Given the description of an element on the screen output the (x, y) to click on. 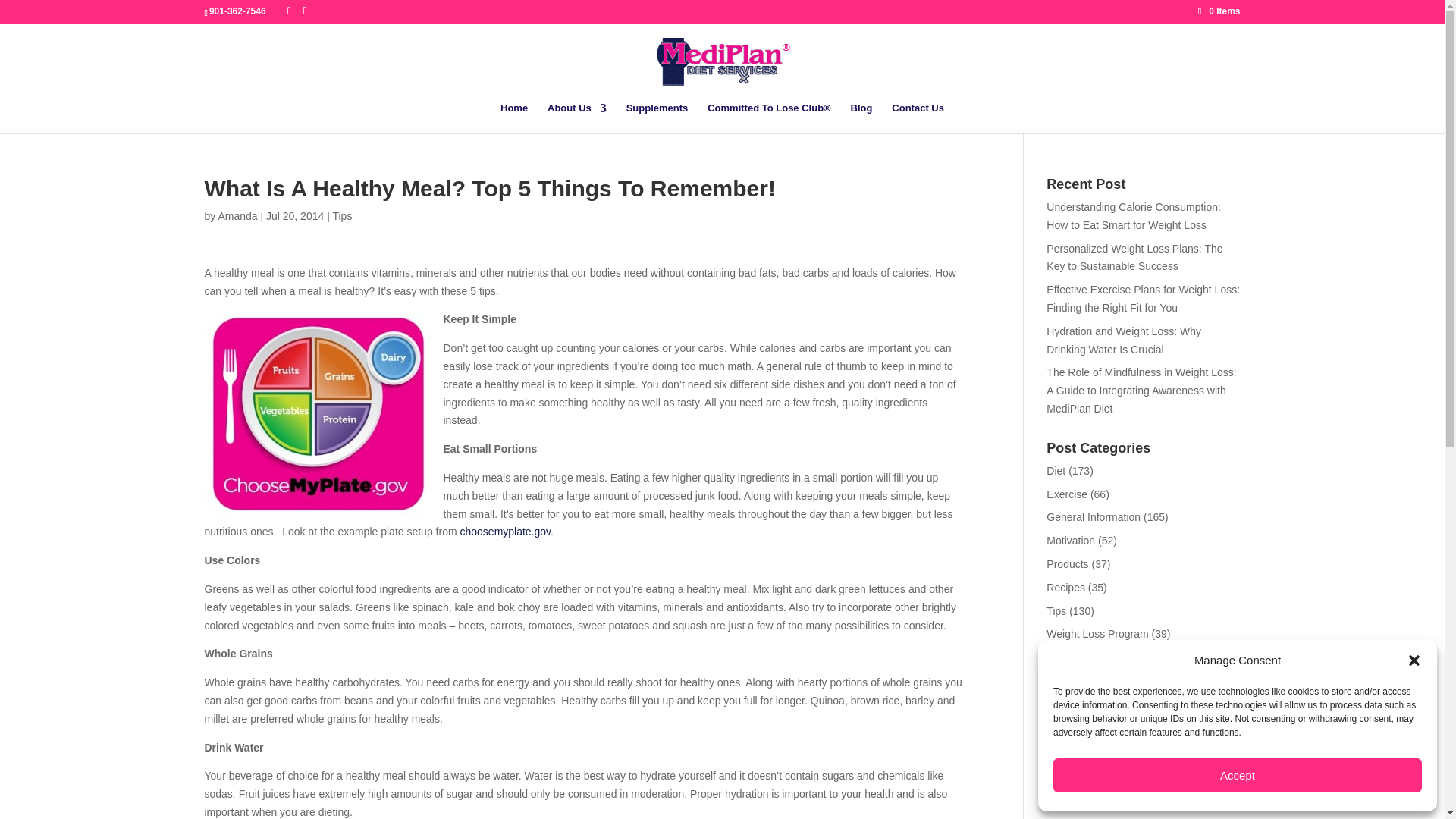
Home (513, 118)
Amanda (236, 215)
Supplements (657, 118)
0 Items (1219, 10)
Accept (1237, 775)
Tips (341, 215)
Posts by Amanda (236, 215)
About Us (577, 118)
Contact Us (917, 118)
choosemyplate.gov (505, 531)
